Given the description of an element on the screen output the (x, y) to click on. 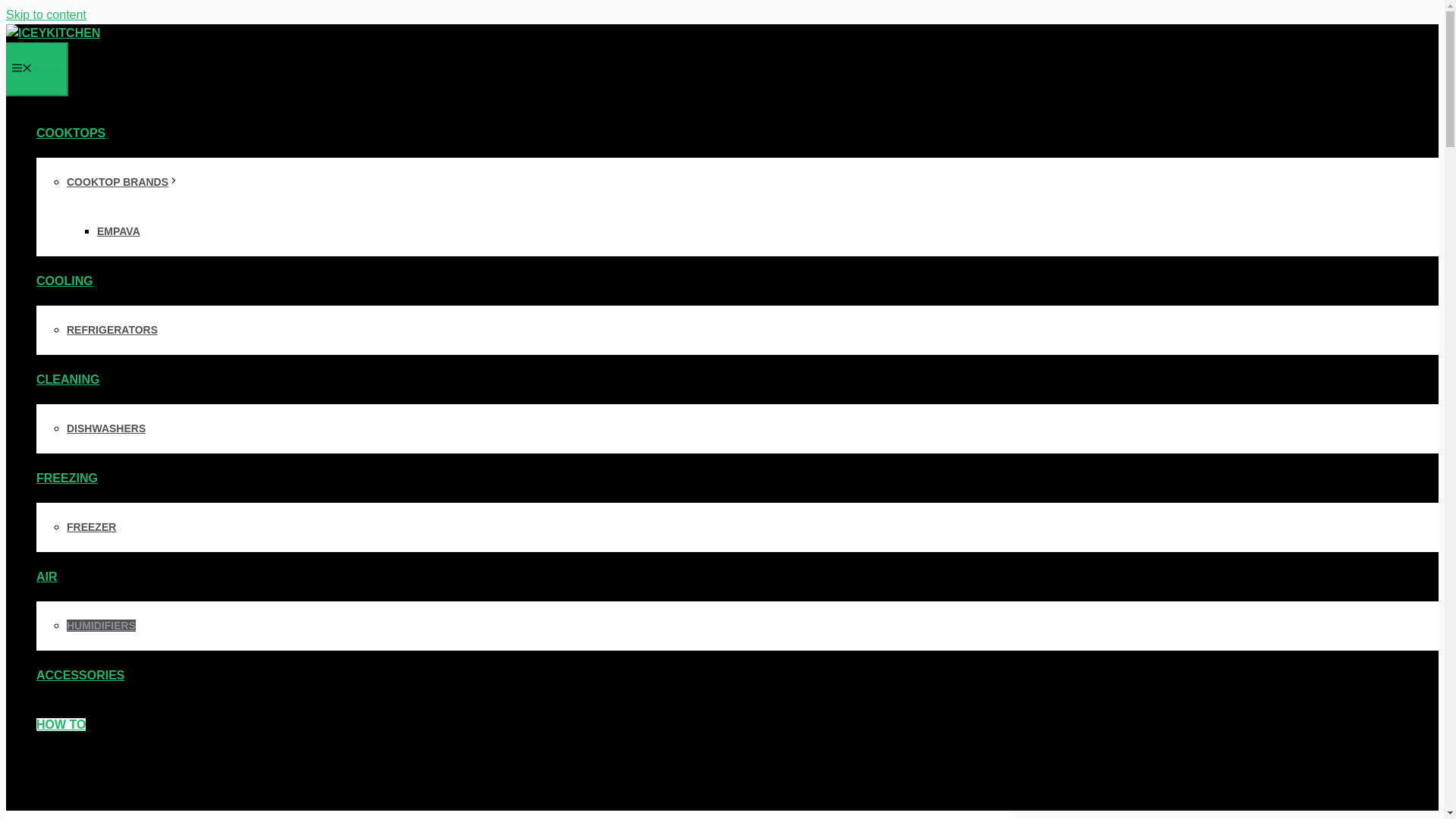
FREEZING (73, 477)
DISHWASHERS (105, 428)
FREEZER (91, 526)
COOLING (70, 280)
MENU (36, 69)
HOW TO (60, 724)
EMPAVA (118, 231)
IceyKitchen (52, 32)
IceyKitchen (52, 33)
REFRIGERATORS (111, 329)
COOKTOP BRANDS (122, 182)
CLEANING (74, 379)
AIR (52, 576)
Skip to content (45, 14)
COOKTOPS (76, 132)
